Given the description of an element on the screen output the (x, y) to click on. 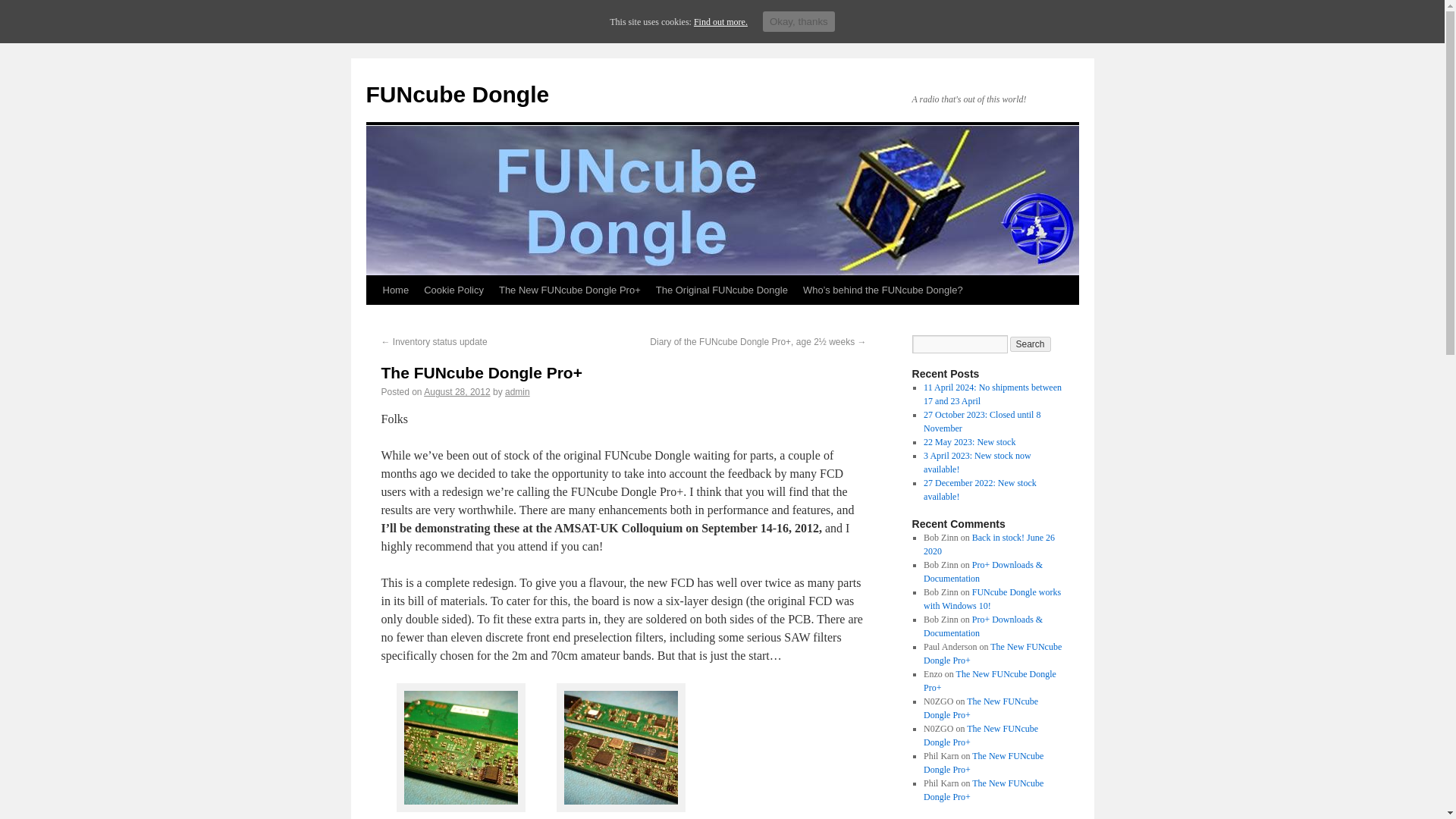
FUNcube Dongle (456, 94)
FUNcube Dongle works with Windows 10! (992, 598)
Search (1030, 344)
Cookie Policy (454, 290)
Search (1030, 344)
22 May 2023: New stock (968, 441)
View all posts by admin (517, 391)
3 April 2023: New stock now available! (976, 462)
FUNcube Dongle (456, 94)
5:28 pm (456, 391)
